Given the description of an element on the screen output the (x, y) to click on. 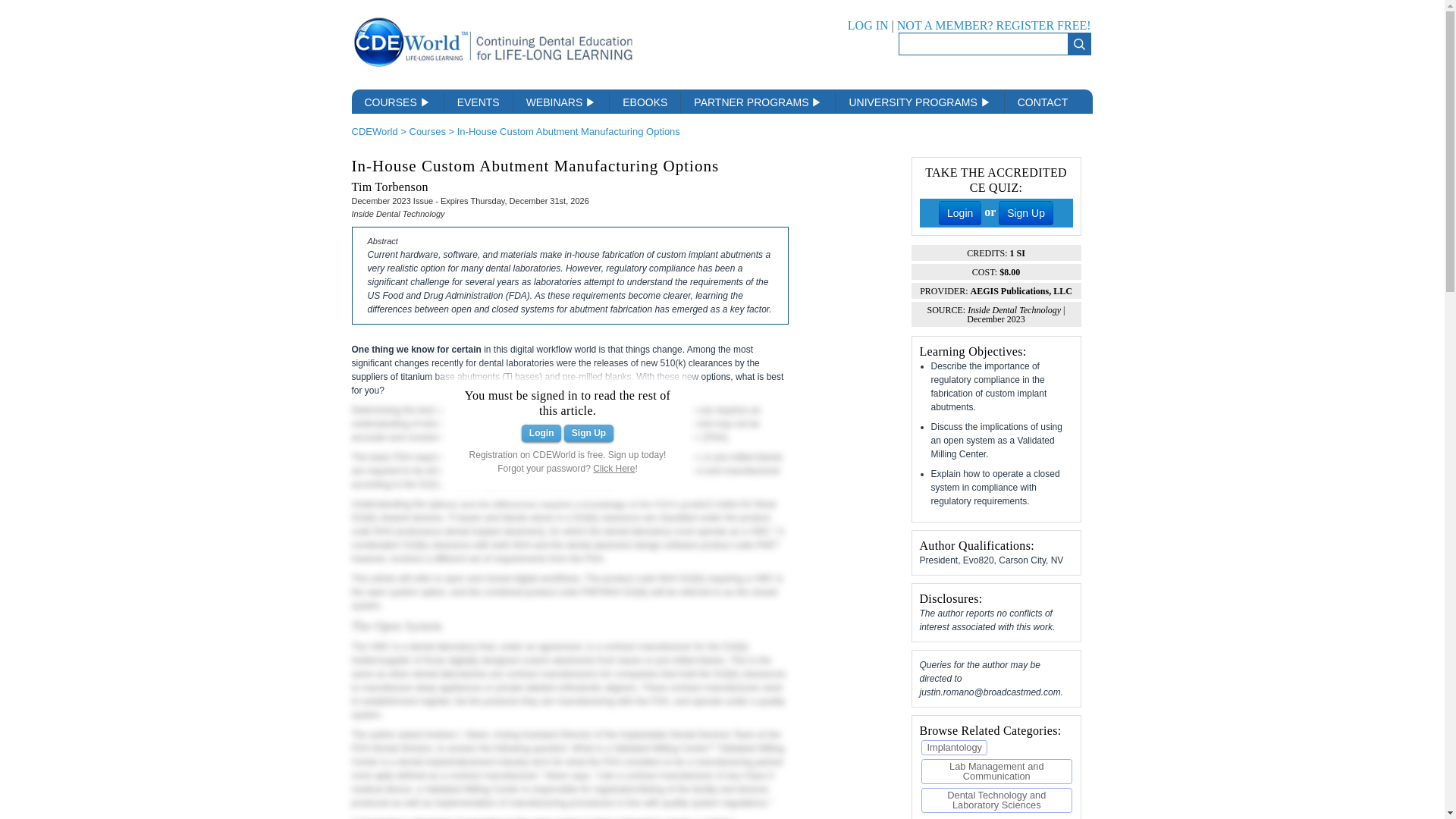
EBOOKS (645, 101)
EVENTS (478, 101)
CDEWorld.com (492, 66)
NOT A MEMBER? REGISTER FREE! (993, 24)
LOG IN (867, 24)
CONTACT (1042, 101)
